Given the description of an element on the screen output the (x, y) to click on. 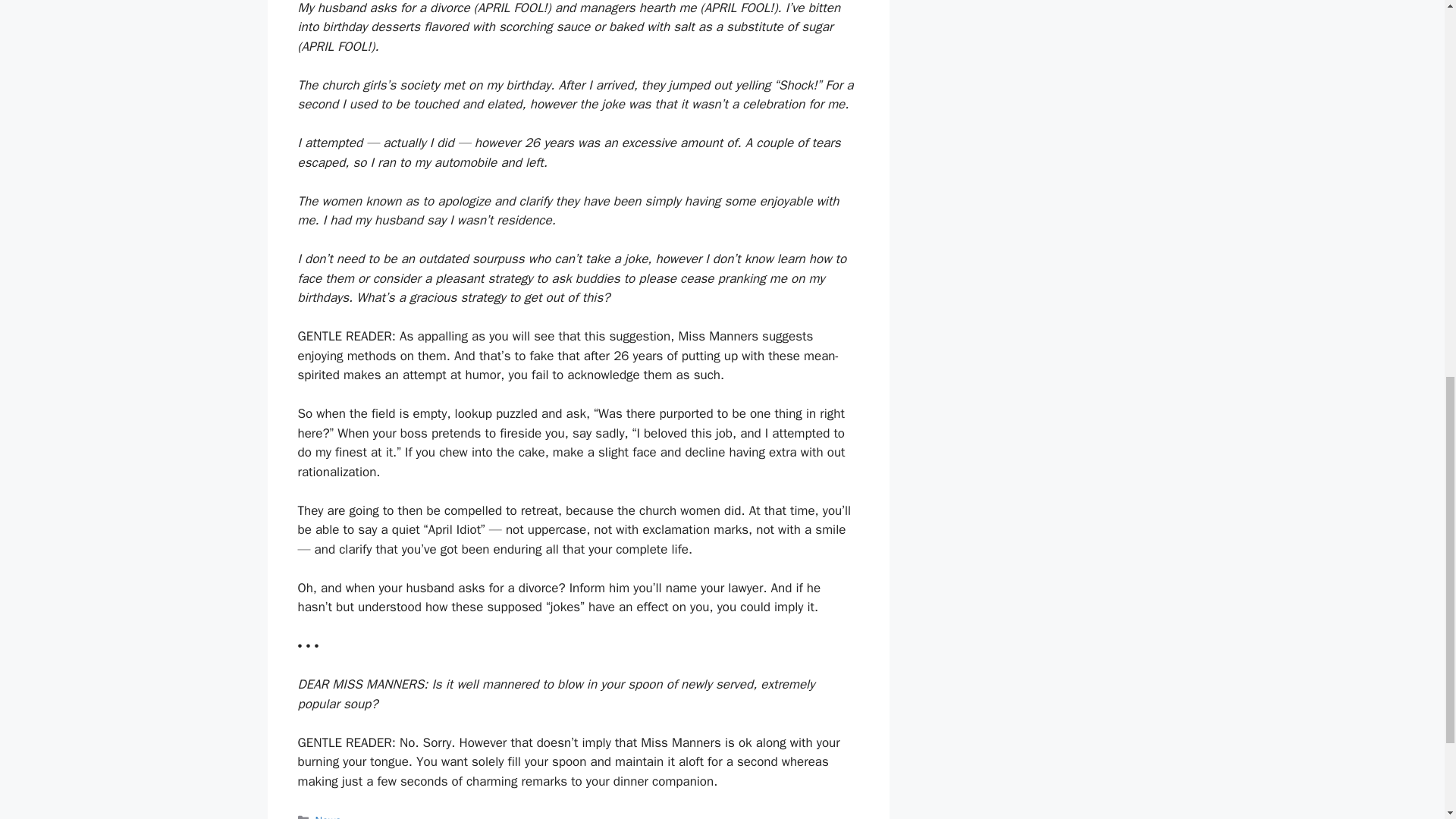
News (327, 816)
